Given the description of an element on the screen output the (x, y) to click on. 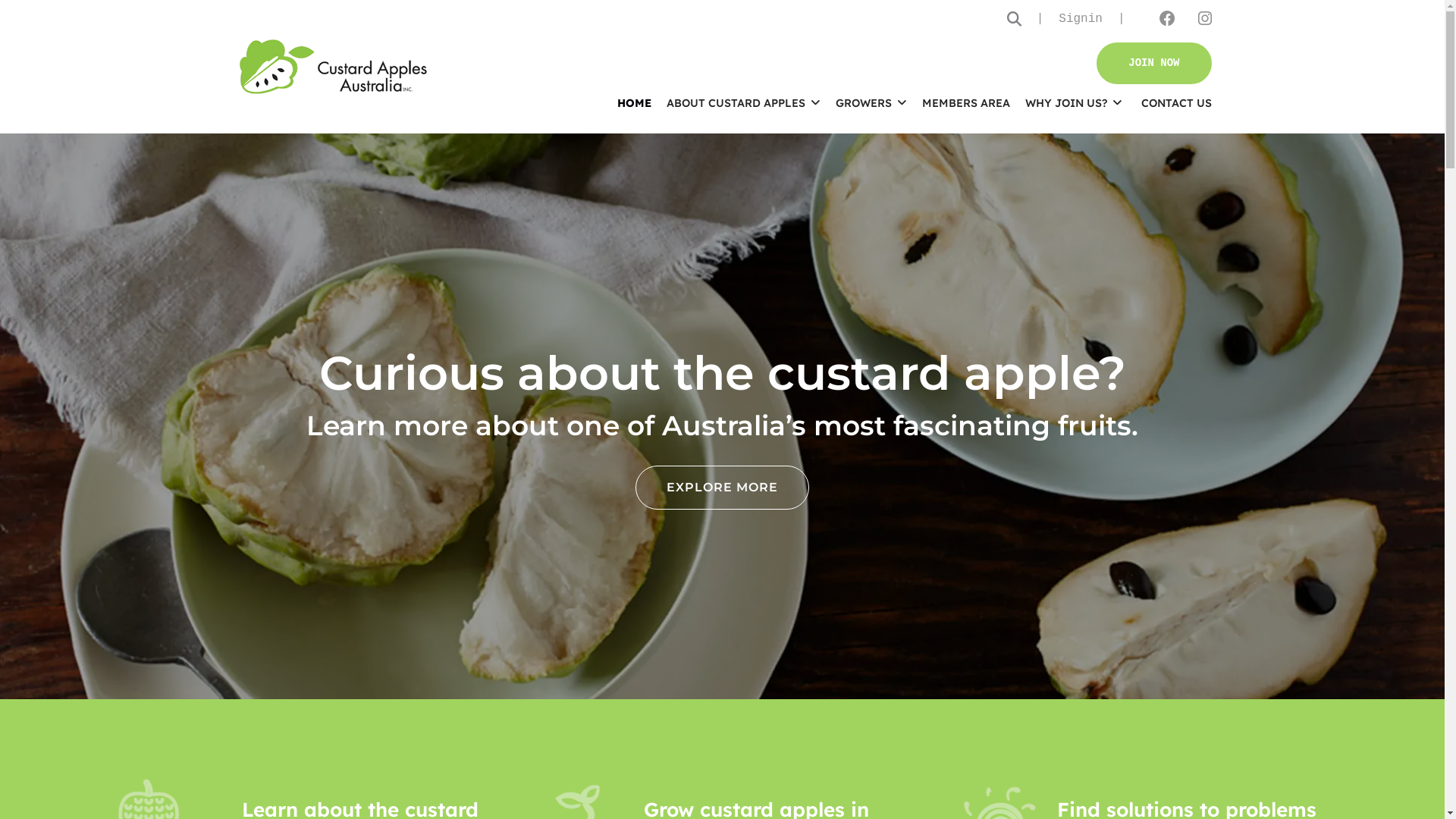
GROWERS Element type: text (871, 103)
WHY JOIN US? Element type: text (1073, 103)
ABOUT CUSTARD APPLES Element type: text (742, 103)
MEMBERS AREA Element type: text (965, 103)
HOME Element type: text (633, 103)
JOIN NOW Element type: text (1153, 63)
EXPLORE MORE Element type: text (722, 487)
CONTACT US Element type: text (1170, 103)
